Given the description of an element on the screen output the (x, y) to click on. 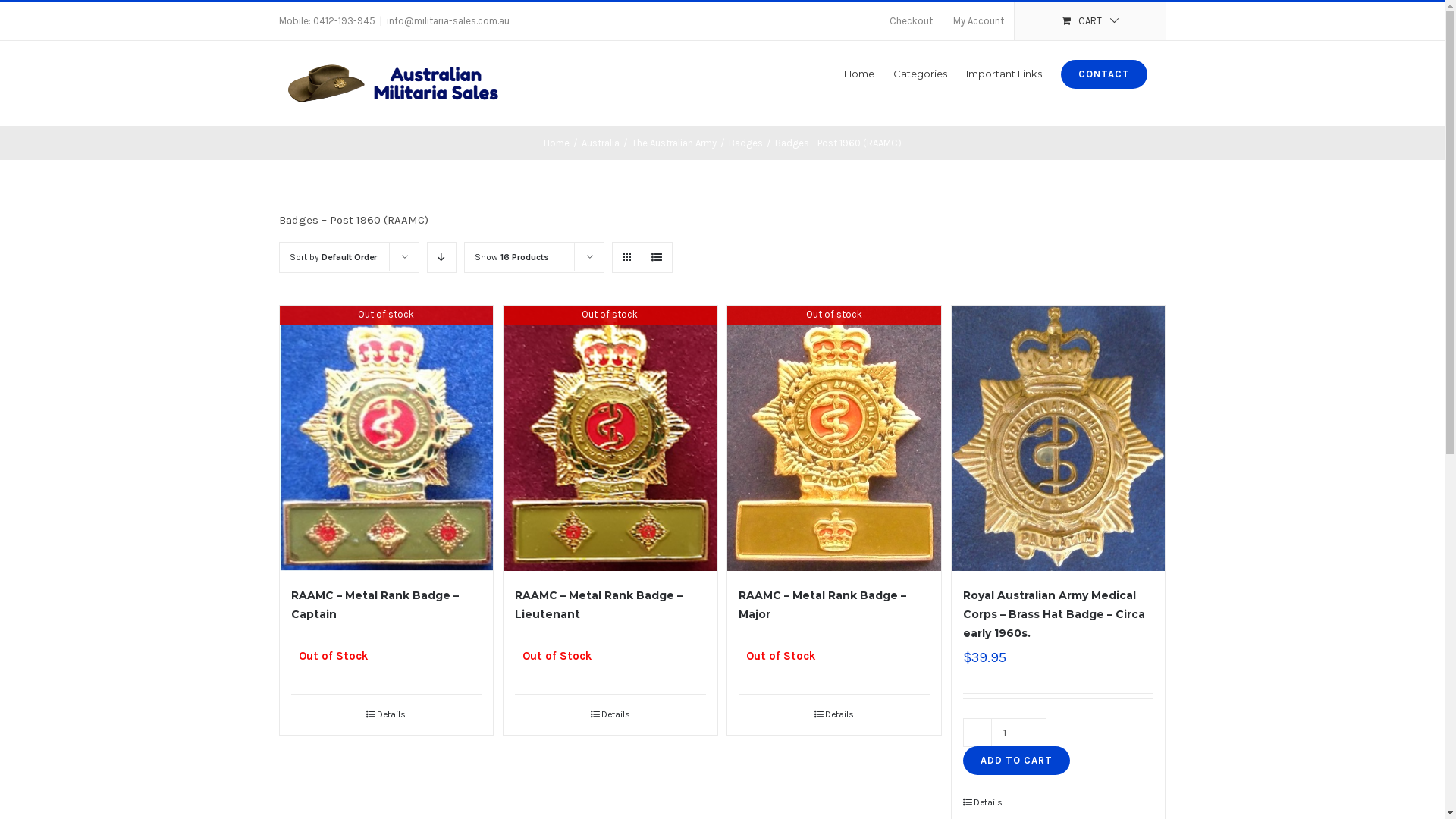
Details Element type: text (833, 714)
Home Element type: text (858, 72)
Qty Element type: hover (1004, 732)
Out of stock Element type: text (610, 438)
Show 16 Products Element type: text (511, 256)
ADD TO CART Element type: text (1016, 760)
CART Element type: text (1090, 21)
Checkout Element type: text (910, 21)
Important Links Element type: text (1003, 72)
Australia Element type: text (599, 142)
Sort by Default Order Element type: text (332, 256)
info@militaria-sales.com.au Element type: text (447, 20)
Badges Element type: text (745, 142)
Out of stock Element type: text (834, 438)
Details Element type: text (610, 714)
Out of stock Element type: text (385, 438)
The Australian Army Element type: text (672, 142)
Details Element type: text (386, 714)
CONTACT Element type: text (1103, 72)
Home Element type: text (555, 142)
Categories Element type: text (920, 72)
My Account Element type: text (978, 21)
Details Element type: text (1009, 801)
Log In Element type: text (1047, 165)
